Given the description of an element on the screen output the (x, y) to click on. 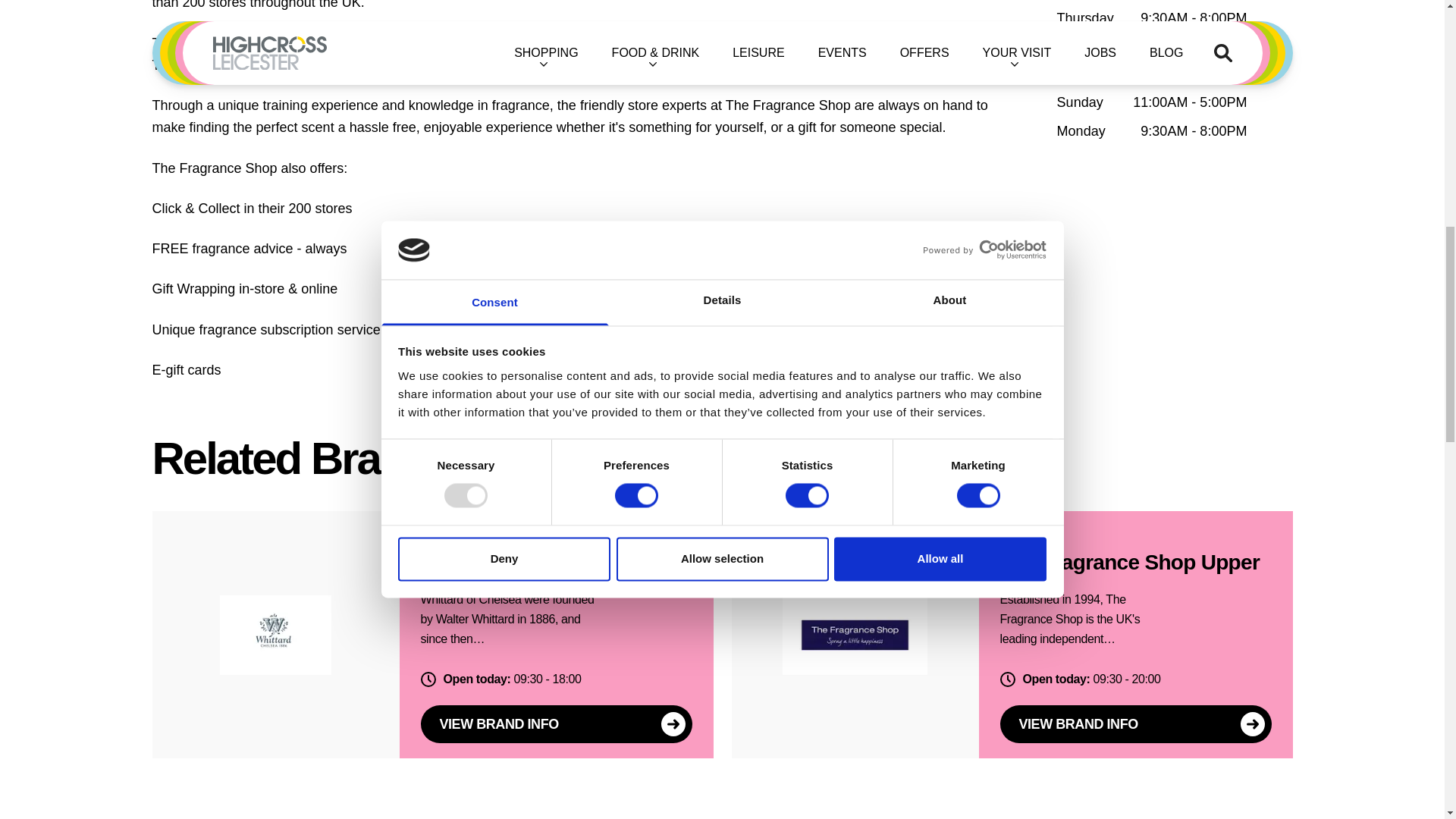
Shop (1010, 531)
